Given the description of an element on the screen output the (x, y) to click on. 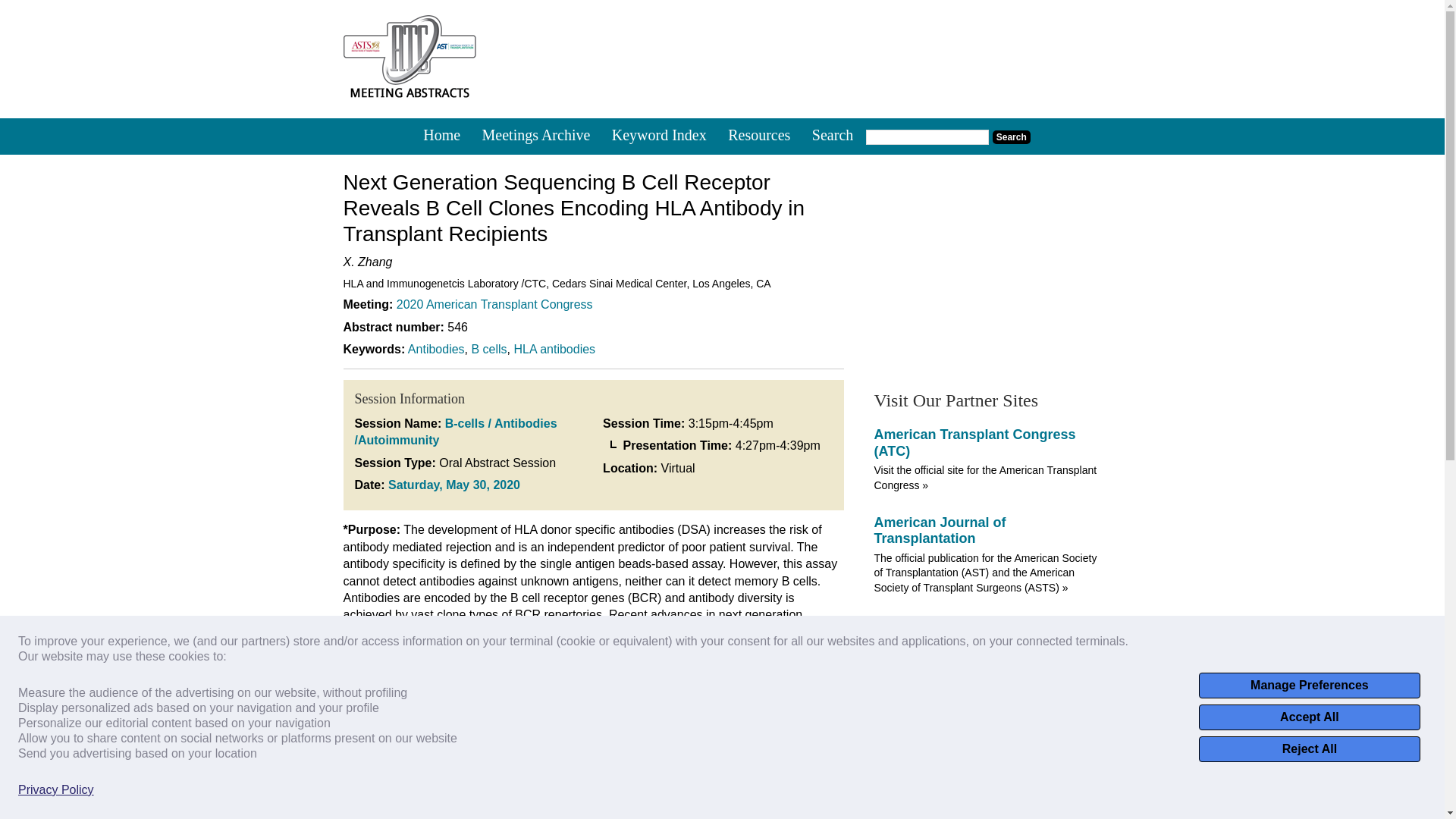
Accept All (1309, 717)
Saturday, May 30, 2020 (453, 484)
Search (1011, 137)
Reject All (1309, 749)
Search (832, 135)
3rd party ad content (986, 264)
HLA antibodies (554, 349)
Resources (759, 135)
Privacy Policy (55, 789)
Keyword Index (659, 135)
